Given the description of an element on the screen output the (x, y) to click on. 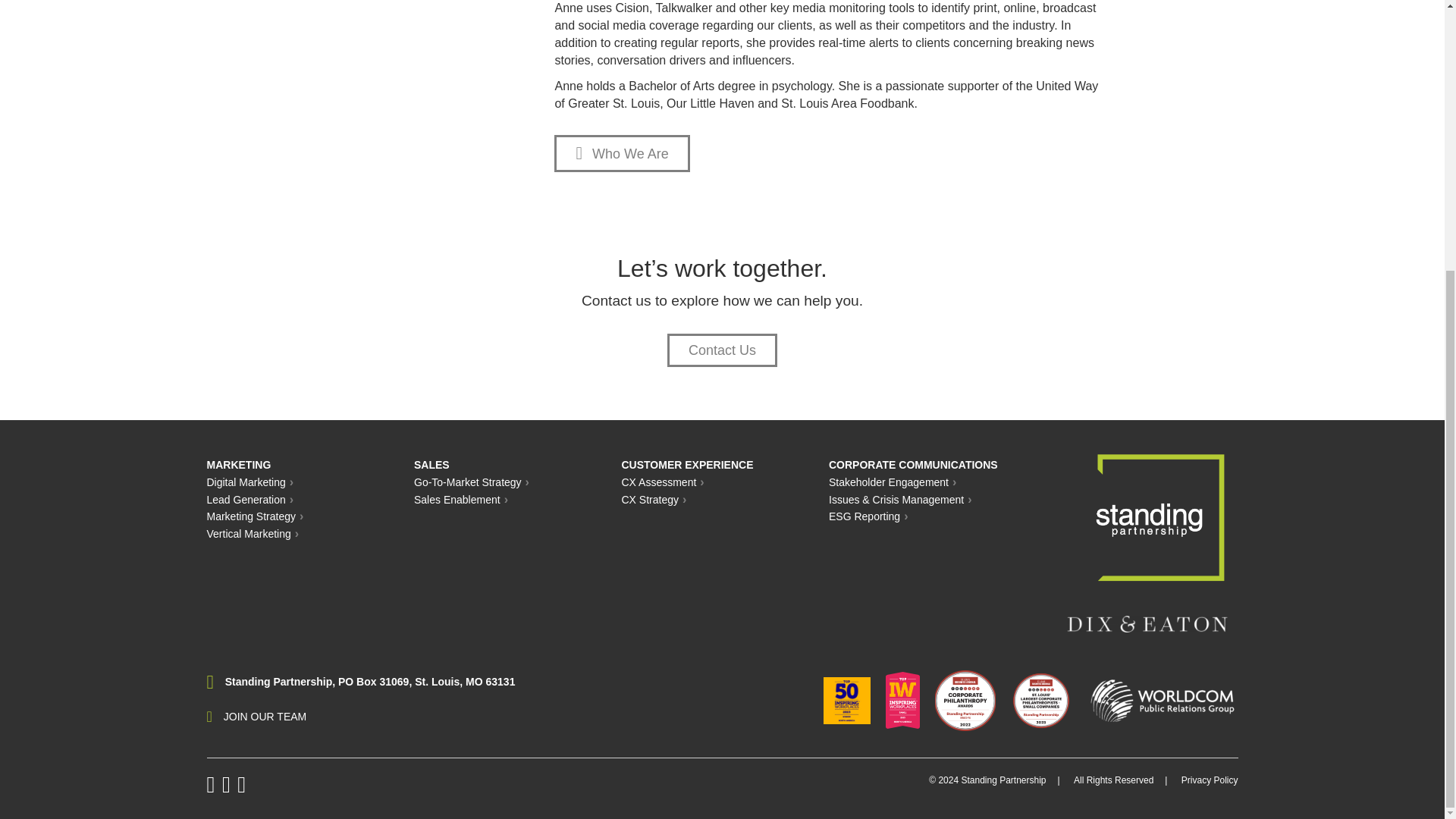
MARKETING (238, 464)
dix-eaton-logo (1146, 623)
Digital Marketing (245, 481)
Standing Partnership Logo footer (1160, 517)
Contact Us (721, 349)
Who We Are (621, 153)
